Given the description of an element on the screen output the (x, y) to click on. 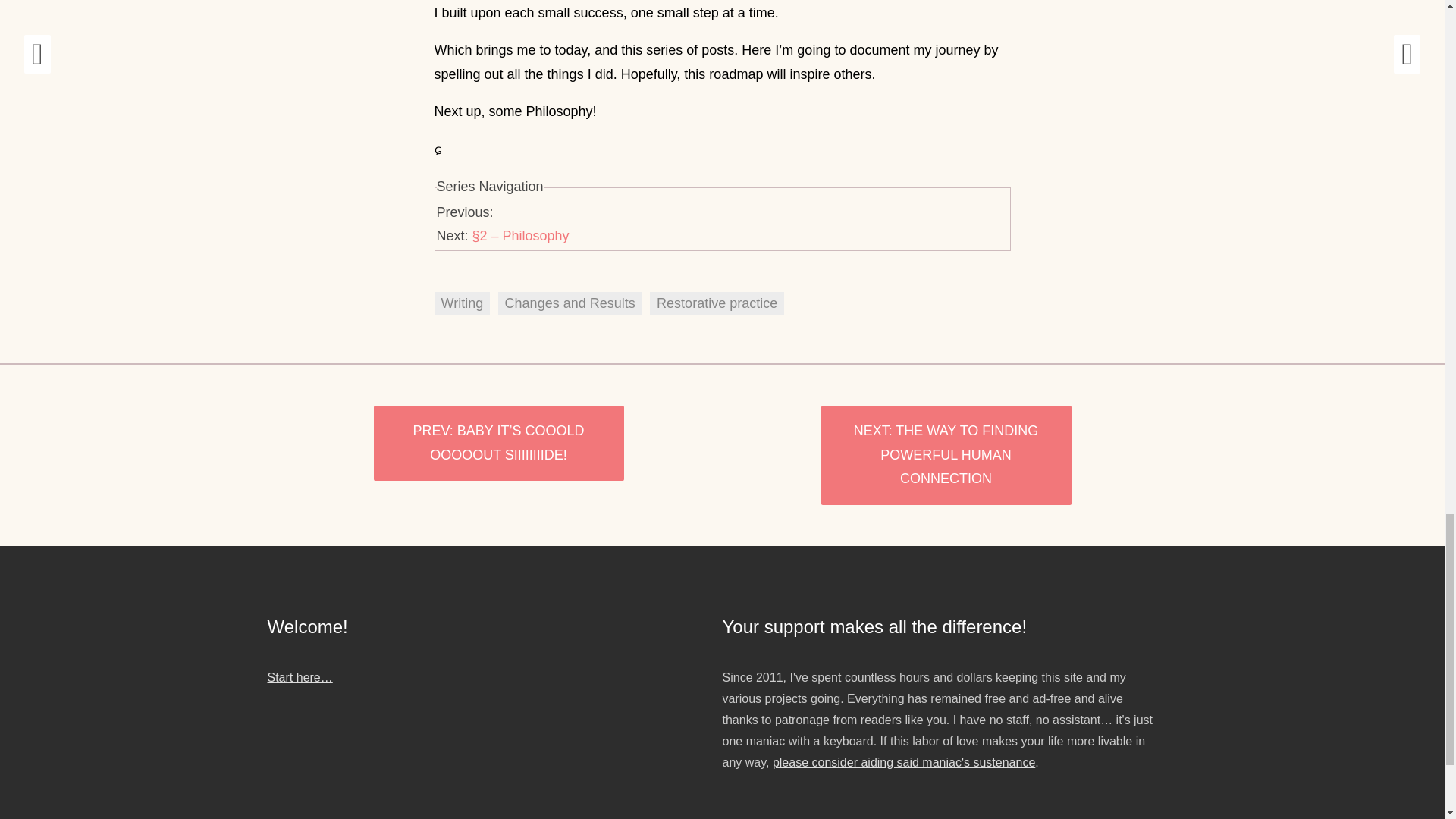
Writing (461, 303)
THE WAY TO FINDING POWERFUL HUMAN CONNECTION (945, 455)
please consider aiding said maniac's sustenance (904, 762)
Changes and Results (569, 303)
Restorative practice (716, 303)
